Given the description of an element on the screen output the (x, y) to click on. 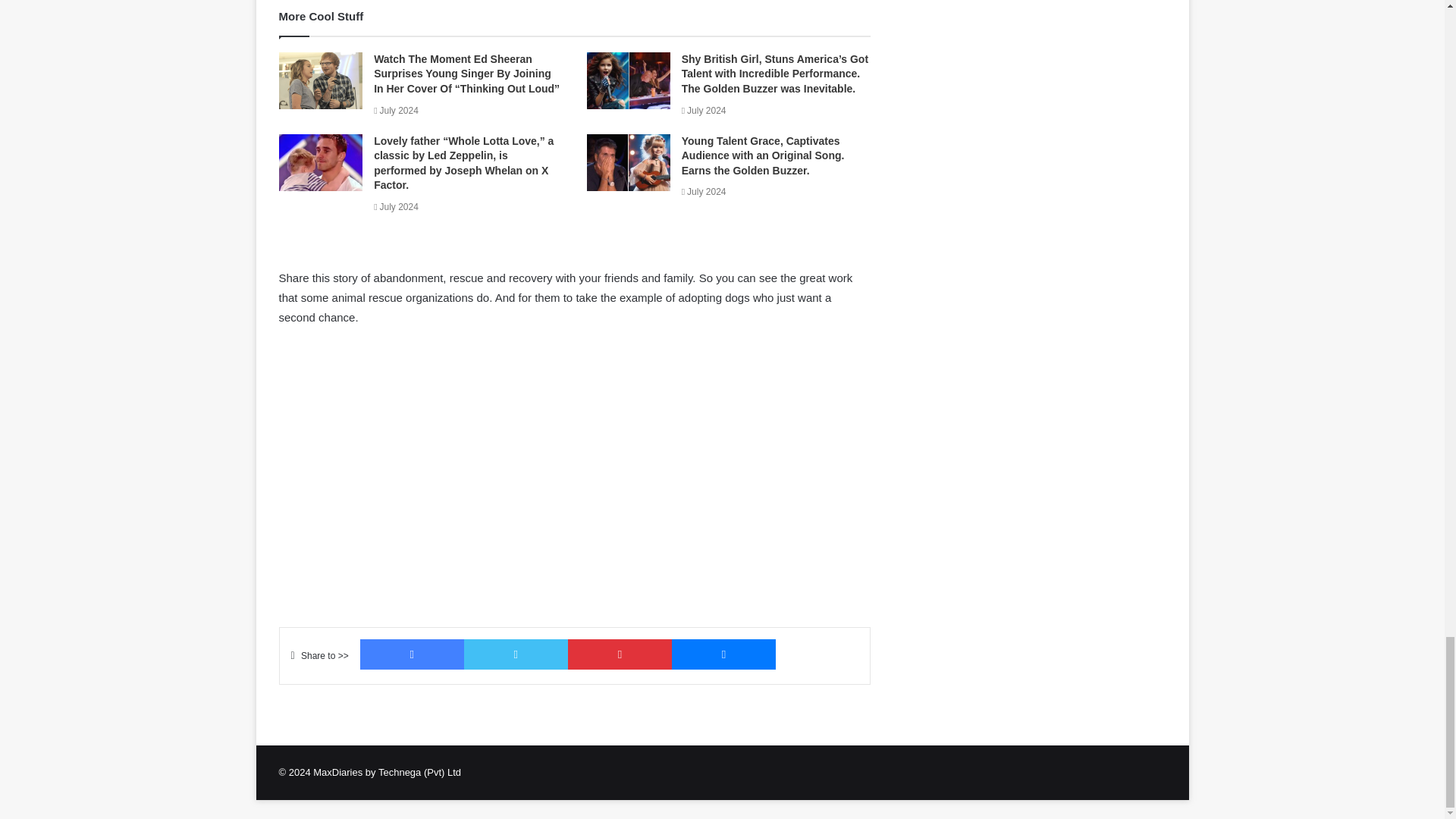
Pinterest (619, 654)
Messenger (723, 654)
Facebook (411, 654)
Twitter (515, 654)
